Given the description of an element on the screen output the (x, y) to click on. 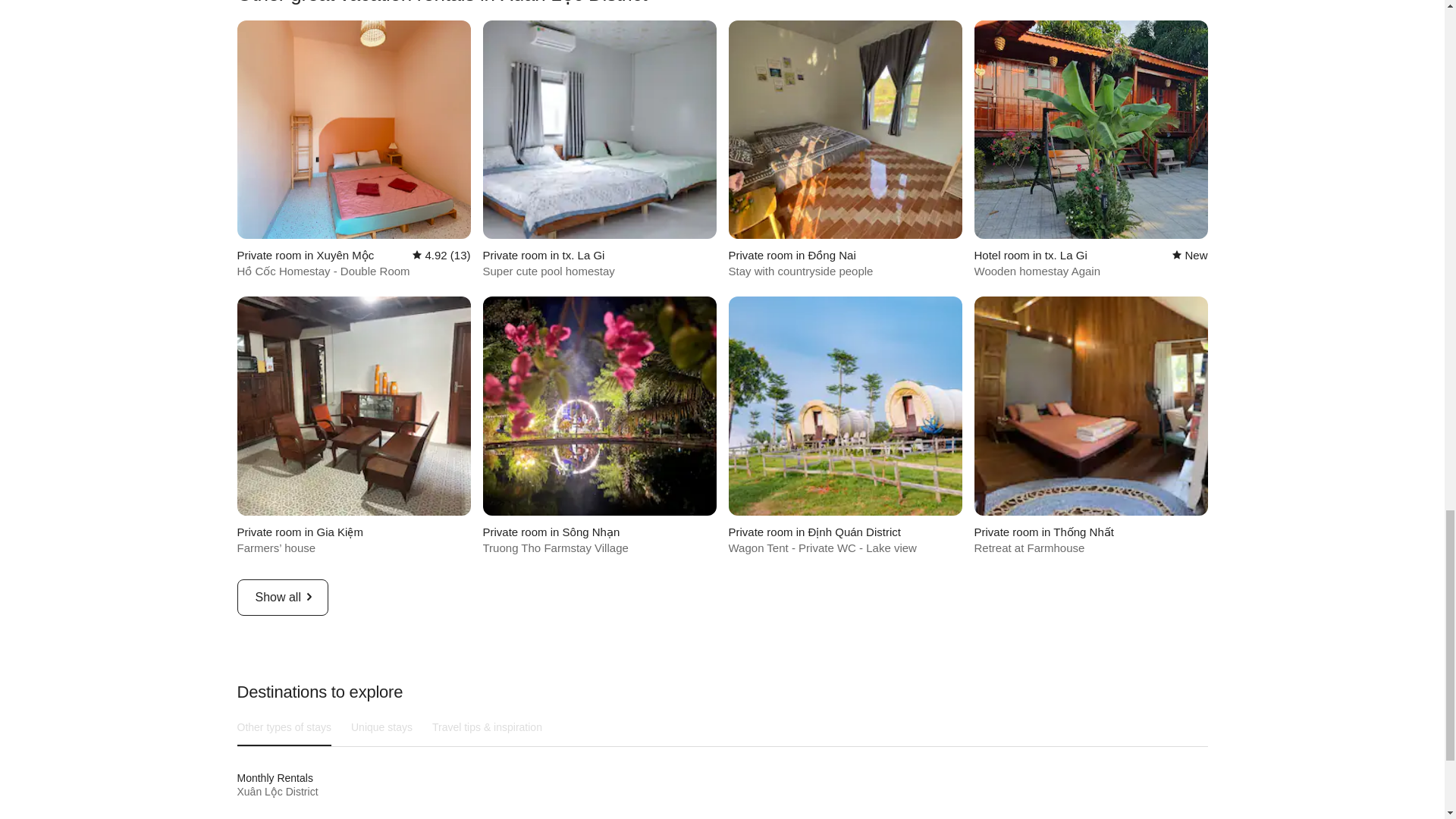
Show all (281, 597)
Other types of stays (283, 727)
Unique stays (381, 727)
